Given the description of an element on the screen output the (x, y) to click on. 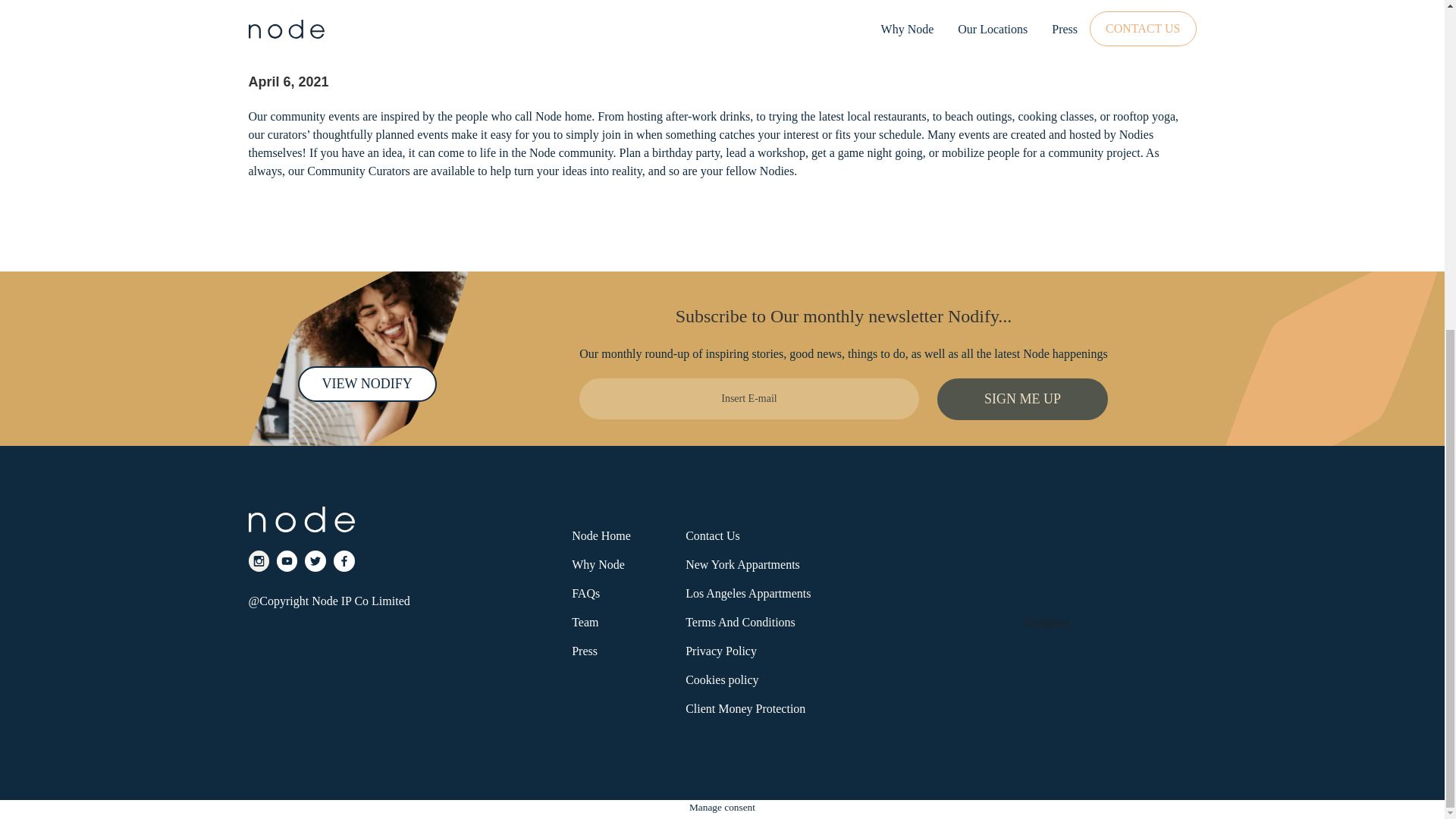
Why Node (598, 564)
Los Angeles Appartments (747, 593)
Client Money Protection (745, 708)
Contact Us (712, 535)
Privacy Policy (721, 651)
Terms And Conditions (739, 622)
Press (584, 651)
FAQs (585, 593)
VIEW NODIFY (366, 384)
Team (585, 622)
New York Appartments (742, 564)
Cookies policy (721, 679)
SIGN ME UP (1022, 399)
Trustpilot (1046, 621)
Node Home (601, 535)
